Given the description of an element on the screen output the (x, y) to click on. 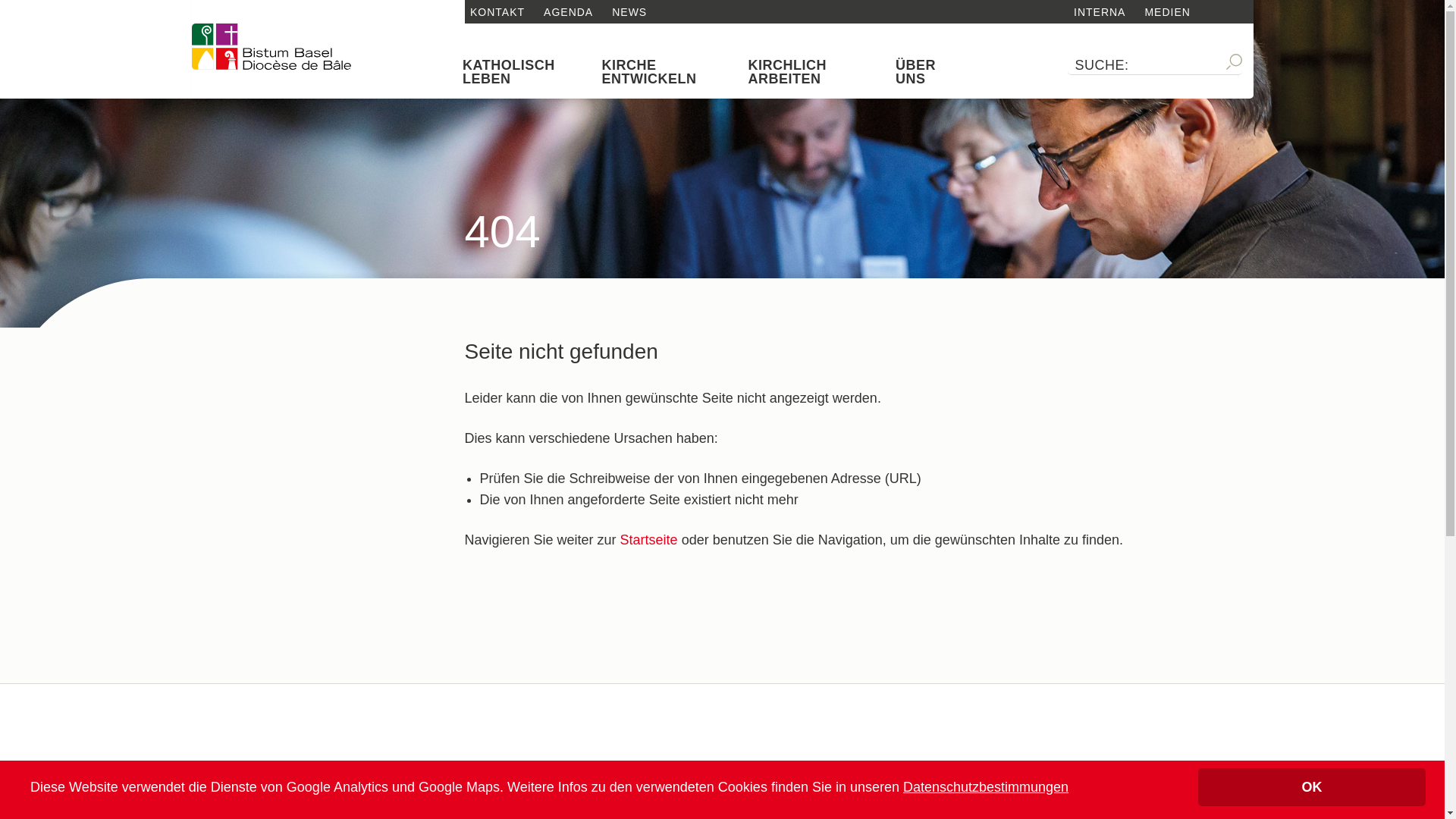
Startseite Element type: text (648, 539)
MEDIEN Element type: text (1166, 12)
KONTAKT Element type: text (497, 12)
Datenschutzbestimmungen Element type: text (985, 786)
OK Element type: text (1311, 787)
KIRCHLICH ARBEITEN Element type: text (810, 71)
KATHOLISCH LEBEN Element type: text (520, 71)
NEWS Element type: text (628, 12)
AGENDA Element type: text (568, 12)
detail Element type: hover (270, 46)
INTERNA Element type: text (1099, 12)
senden Element type: text (87, 9)
KIRCHE ENTWICKELN Element type: text (663, 71)
